Given the description of an element on the screen output the (x, y) to click on. 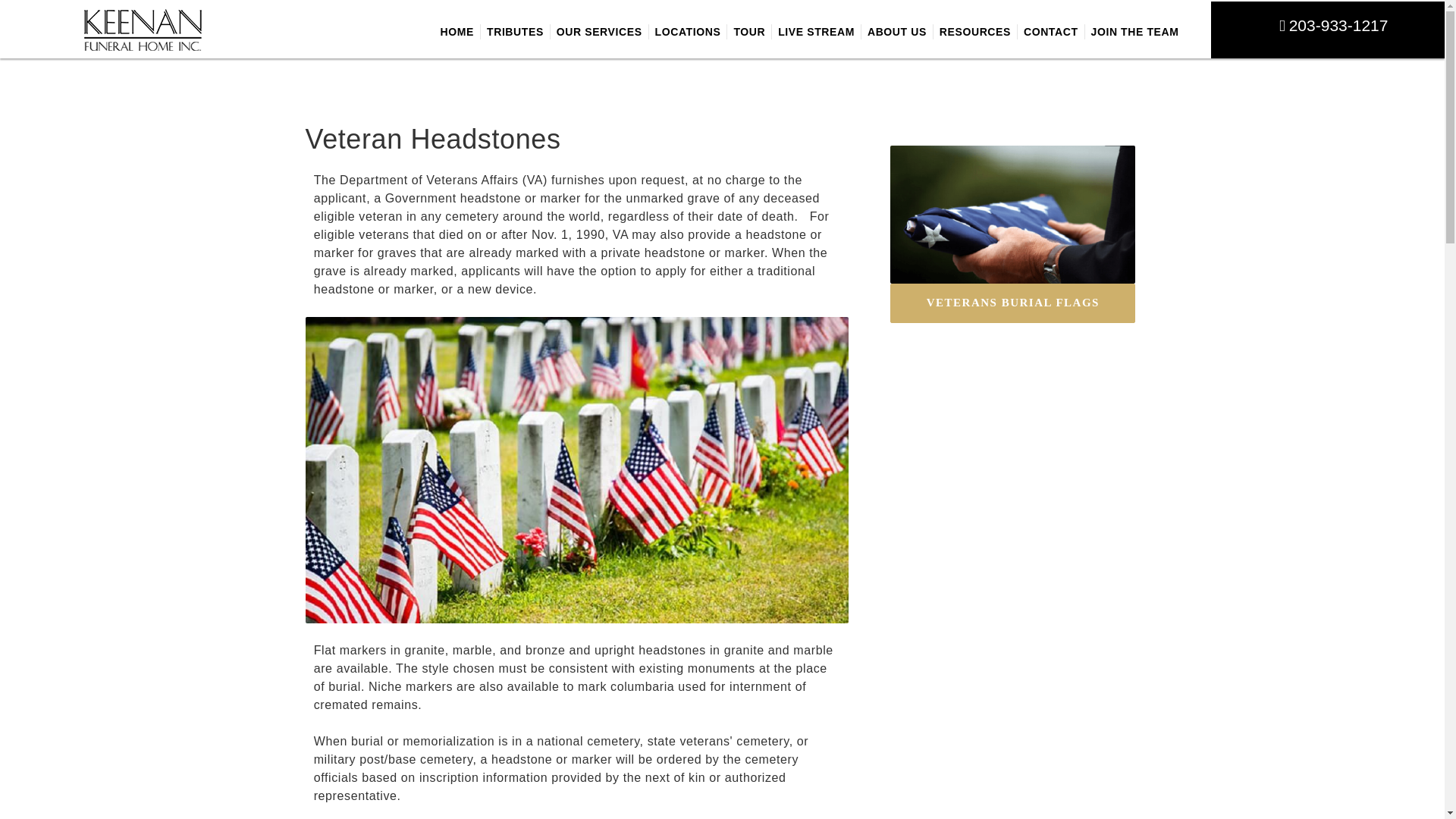
HOME (456, 31)
VETERANS BURIAL FLAGS (1012, 302)
JOIN THE TEAM (1134, 31)
ABOUT US (897, 31)
TOUR (748, 31)
LOCATIONS (687, 31)
LIVE STREAM (815, 31)
RESOURCES (974, 31)
203-933-1217 (1338, 25)
CONTACT (1050, 31)
VETERANS BURIAL FLAGS (1012, 302)
OUR SERVICES (598, 31)
TRIBUTES (515, 31)
